Given the description of an element on the screen output the (x, y) to click on. 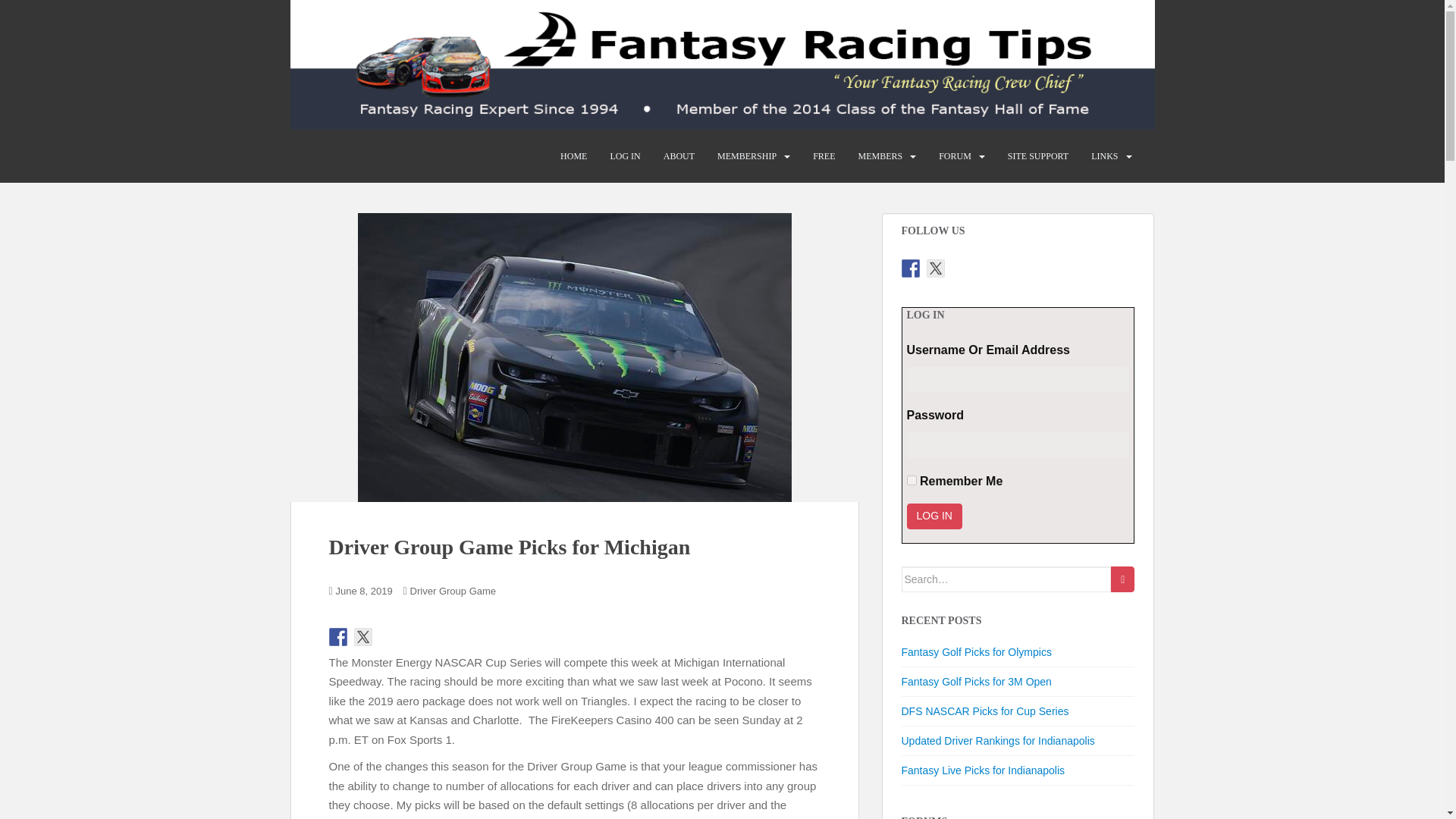
FORUM (955, 155)
Search for: (1005, 579)
June 8, 2019 (364, 591)
forever (912, 480)
MEMBERSHIP (746, 155)
Driver Group Game (453, 591)
MEMBERS (879, 155)
Follow us on Facebook (909, 268)
Follow us on Twitter (935, 268)
Follow us on Facebook (338, 637)
